Given the description of an element on the screen output the (x, y) to click on. 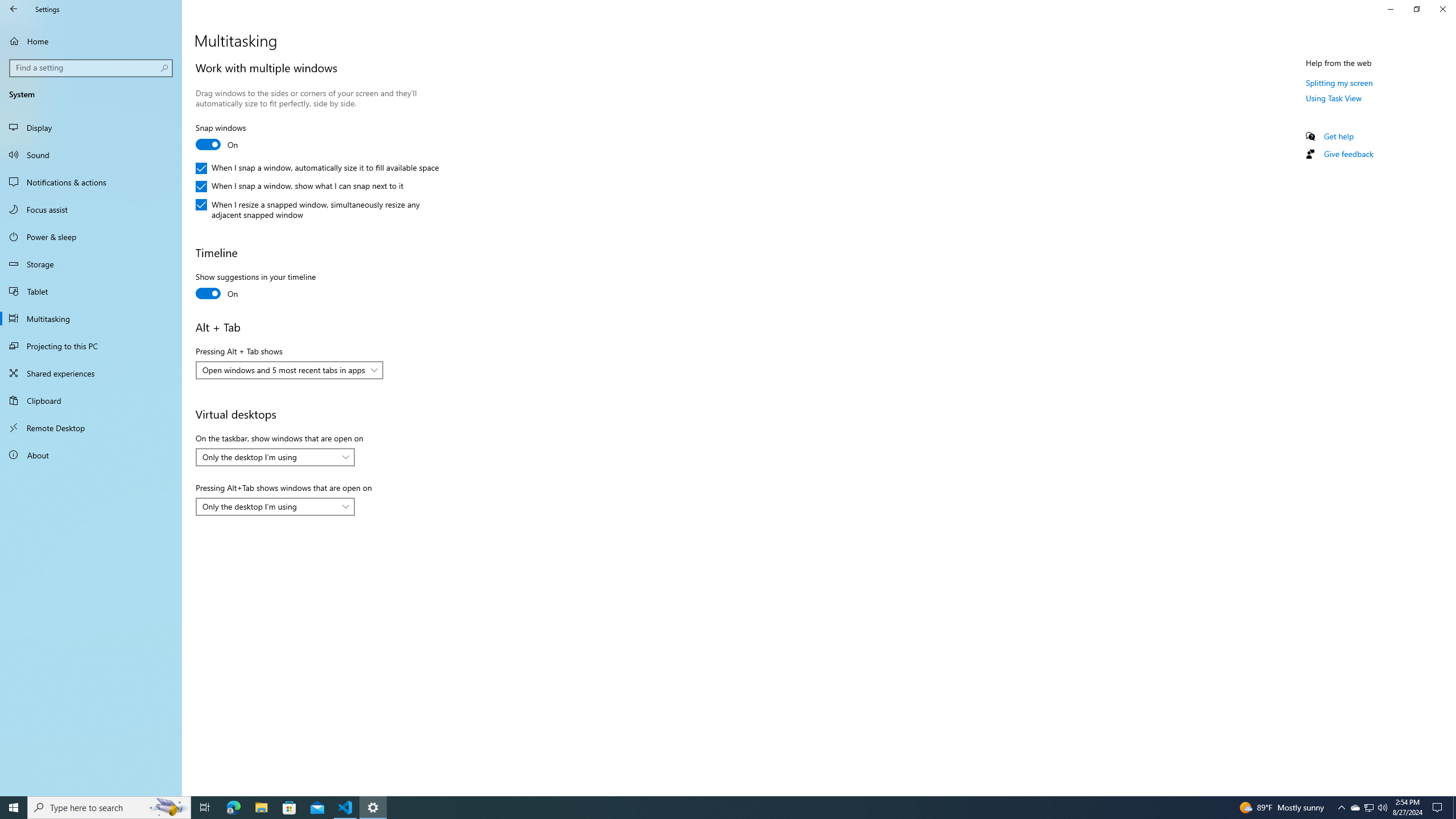
Tablet (91, 290)
Shared experiences (91, 372)
Clipboard (91, 400)
Snap windows (237, 137)
Pressing Alt+Tab shows windows that are open on (275, 506)
Multitasking (91, 318)
Projecting to this PC (91, 345)
